Given the description of an element on the screen output the (x, y) to click on. 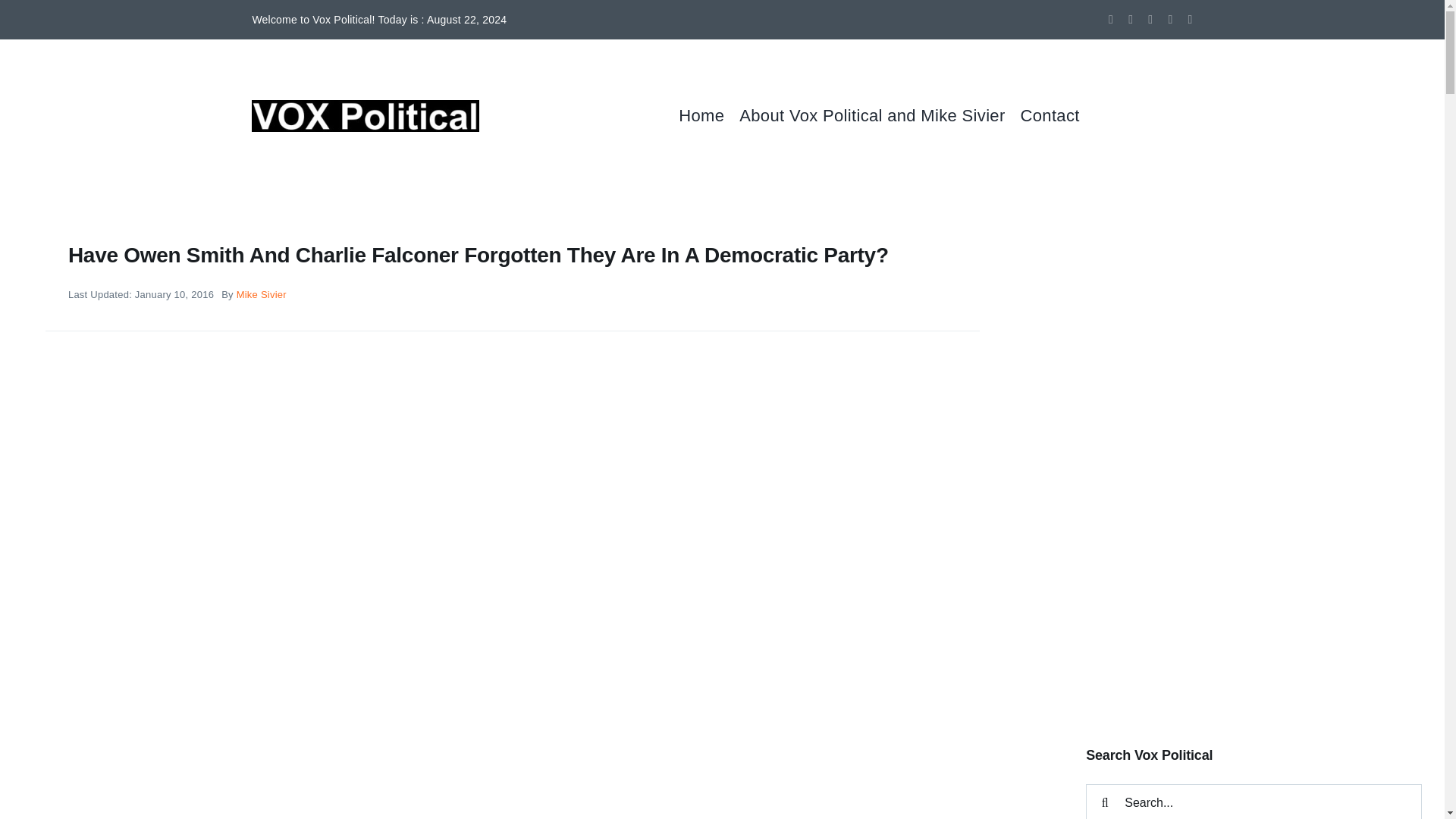
About Vox Political and Mike Sivier (879, 115)
Advertisement (1254, 598)
Home (708, 115)
Posts by Mike Sivier (260, 294)
Contact (1057, 115)
Mike Sivier (260, 294)
